Given the description of an element on the screen output the (x, y) to click on. 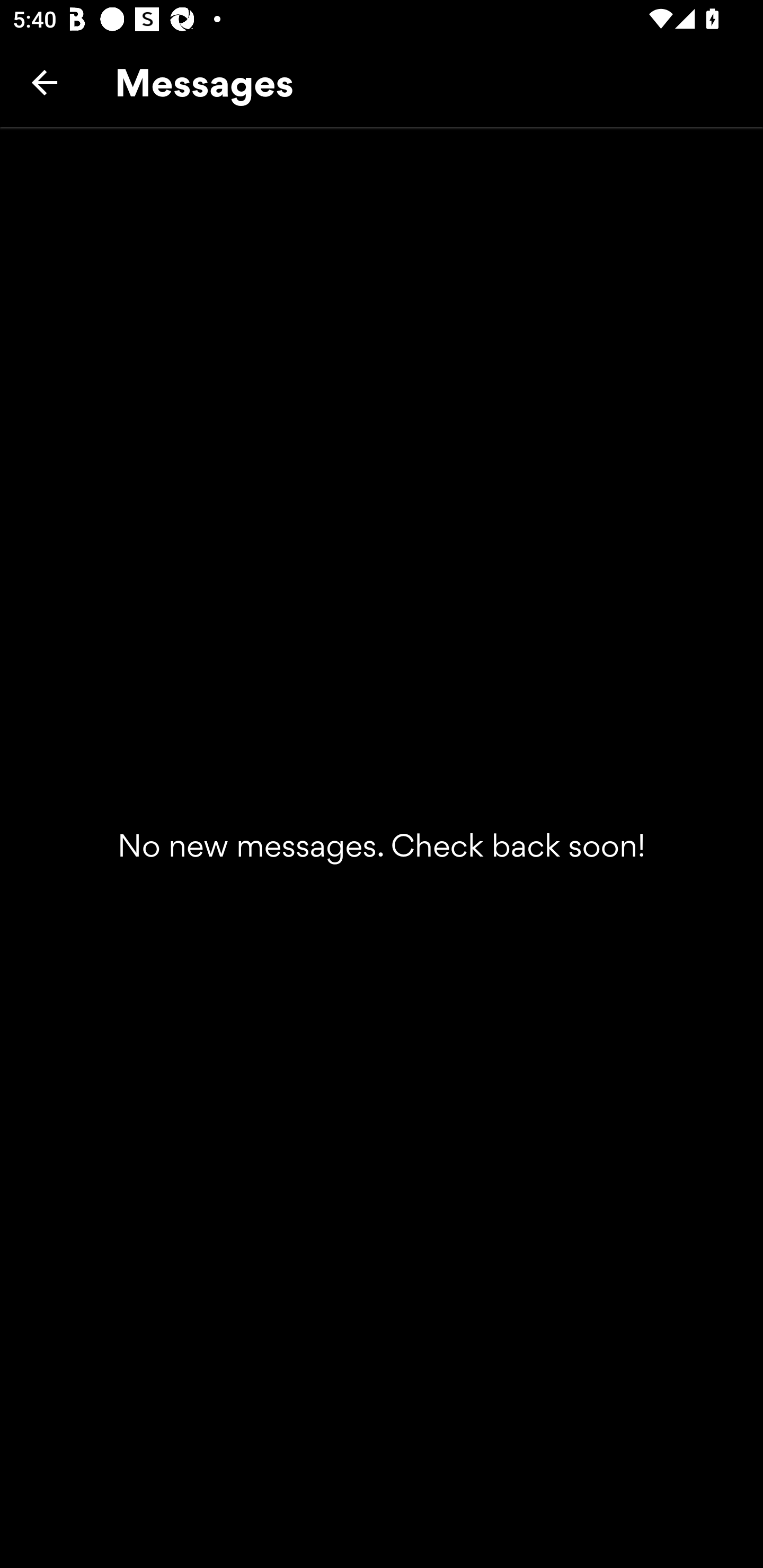
Back (44, 82)
